Given the description of an element on the screen output the (x, y) to click on. 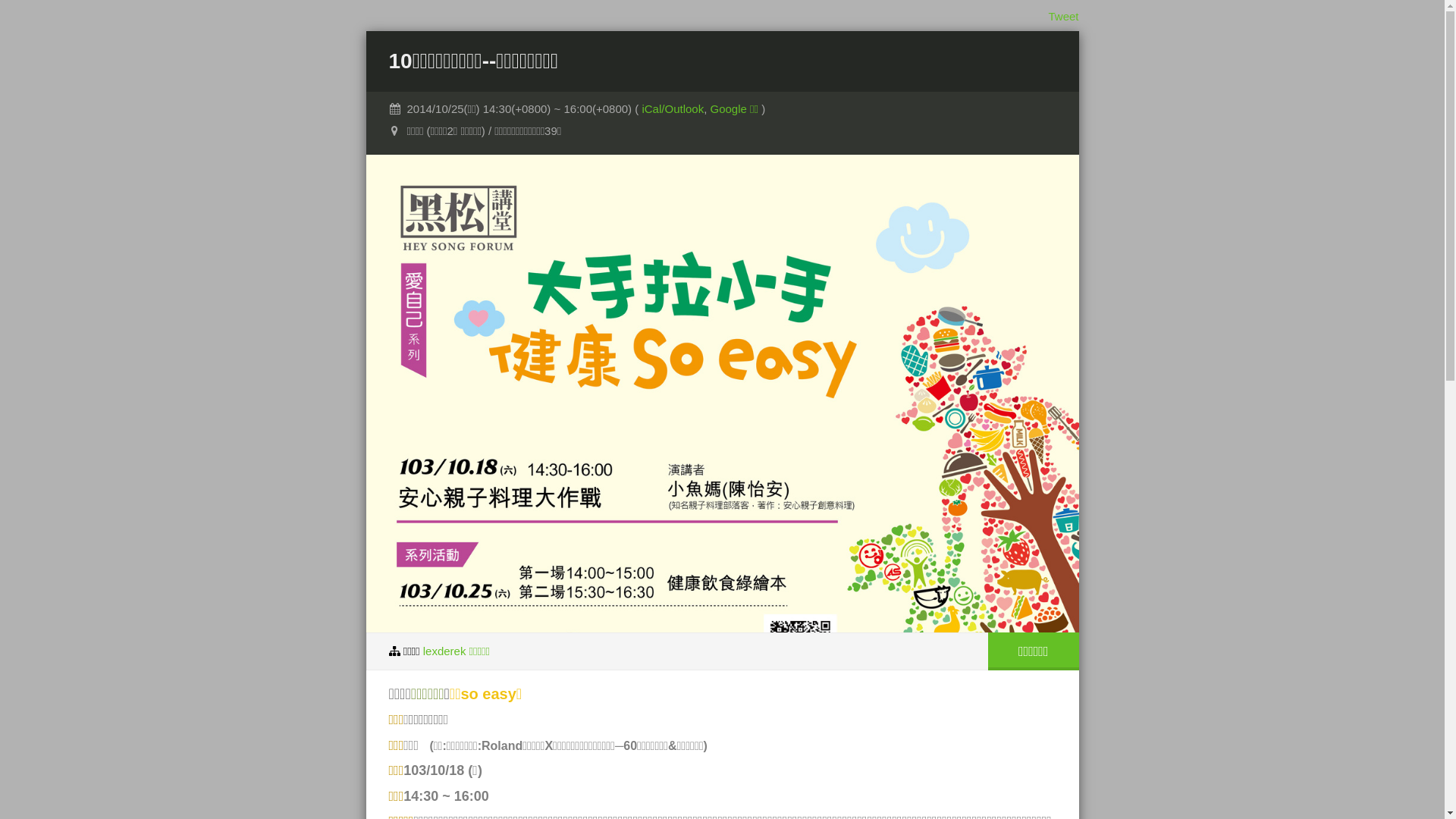
iCal/Outlook Element type: text (672, 108)
Tweet Element type: text (1063, 15)
